Given the description of an element on the screen output the (x, y) to click on. 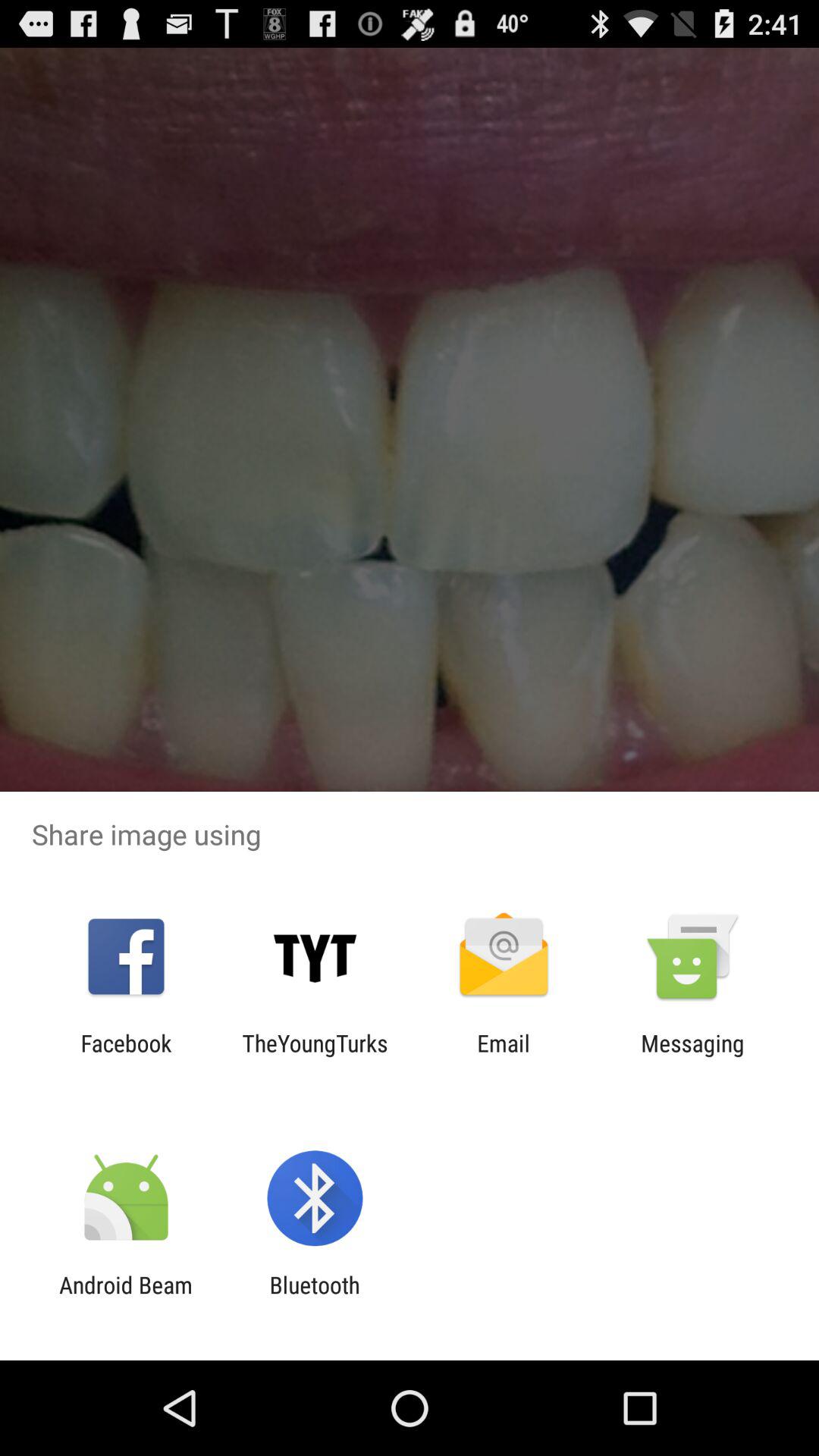
scroll to the bluetooth icon (314, 1298)
